Given the description of an element on the screen output the (x, y) to click on. 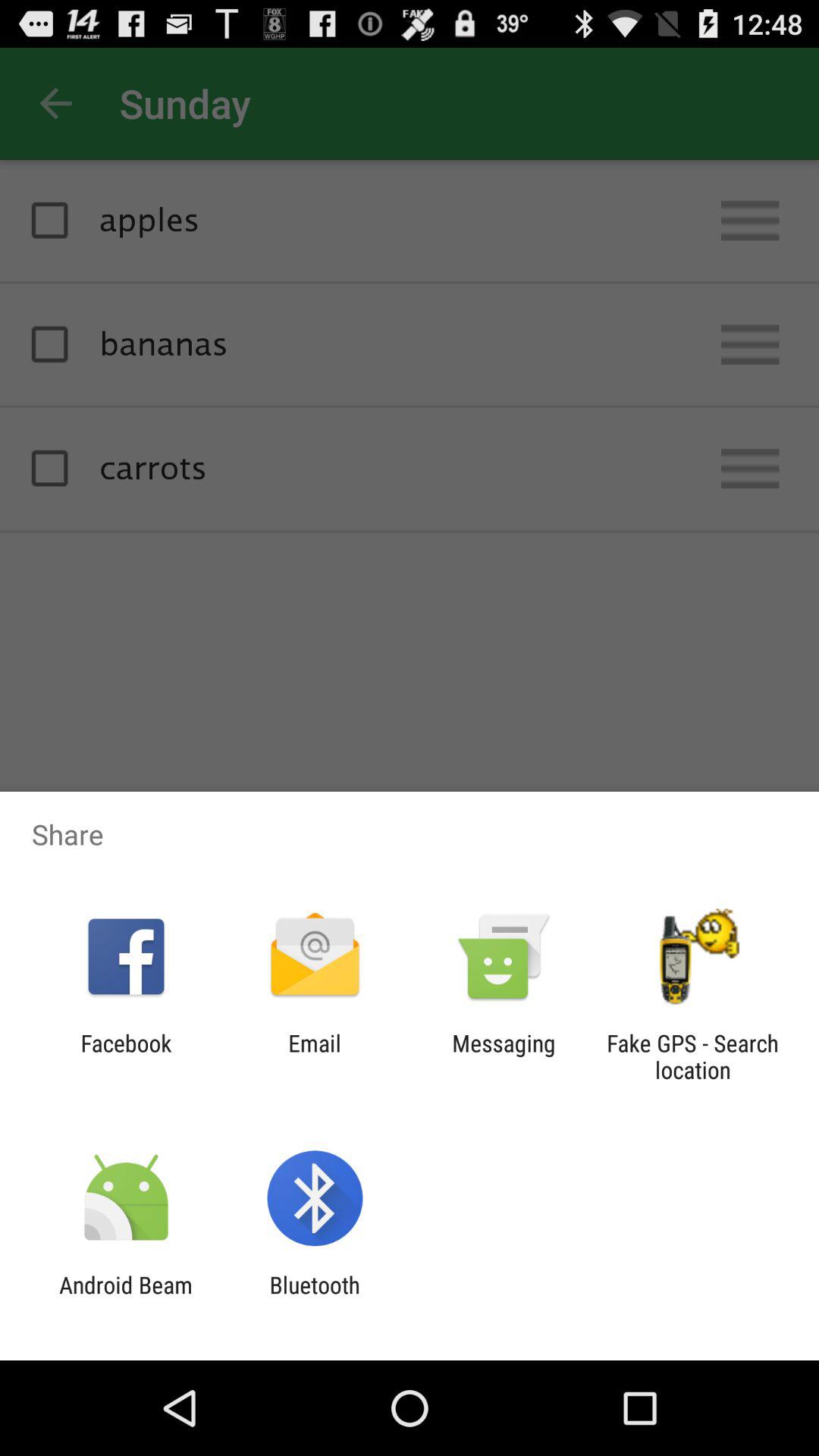
launch the icon next to the messaging (314, 1056)
